Given the description of an element on the screen output the (x, y) to click on. 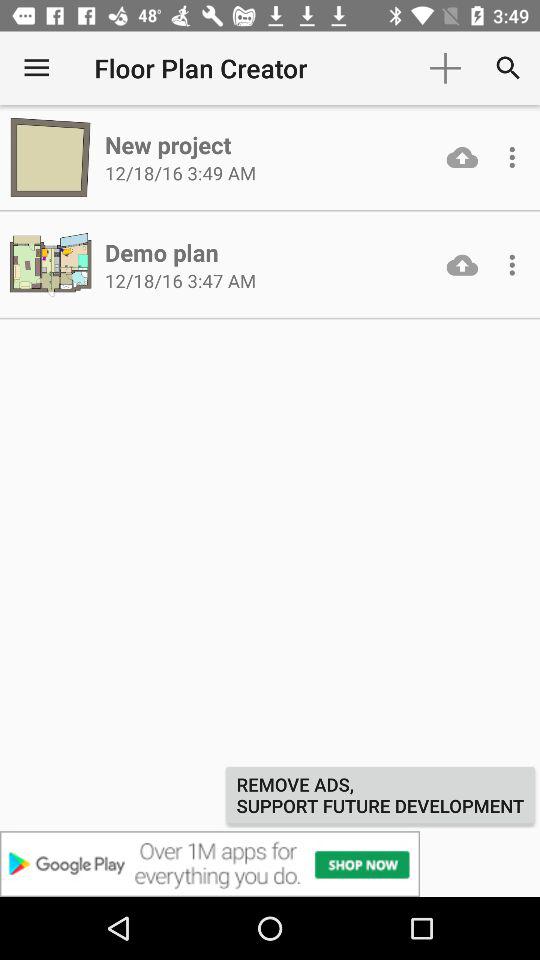
open options (512, 265)
